Given the description of an element on the screen output the (x, y) to click on. 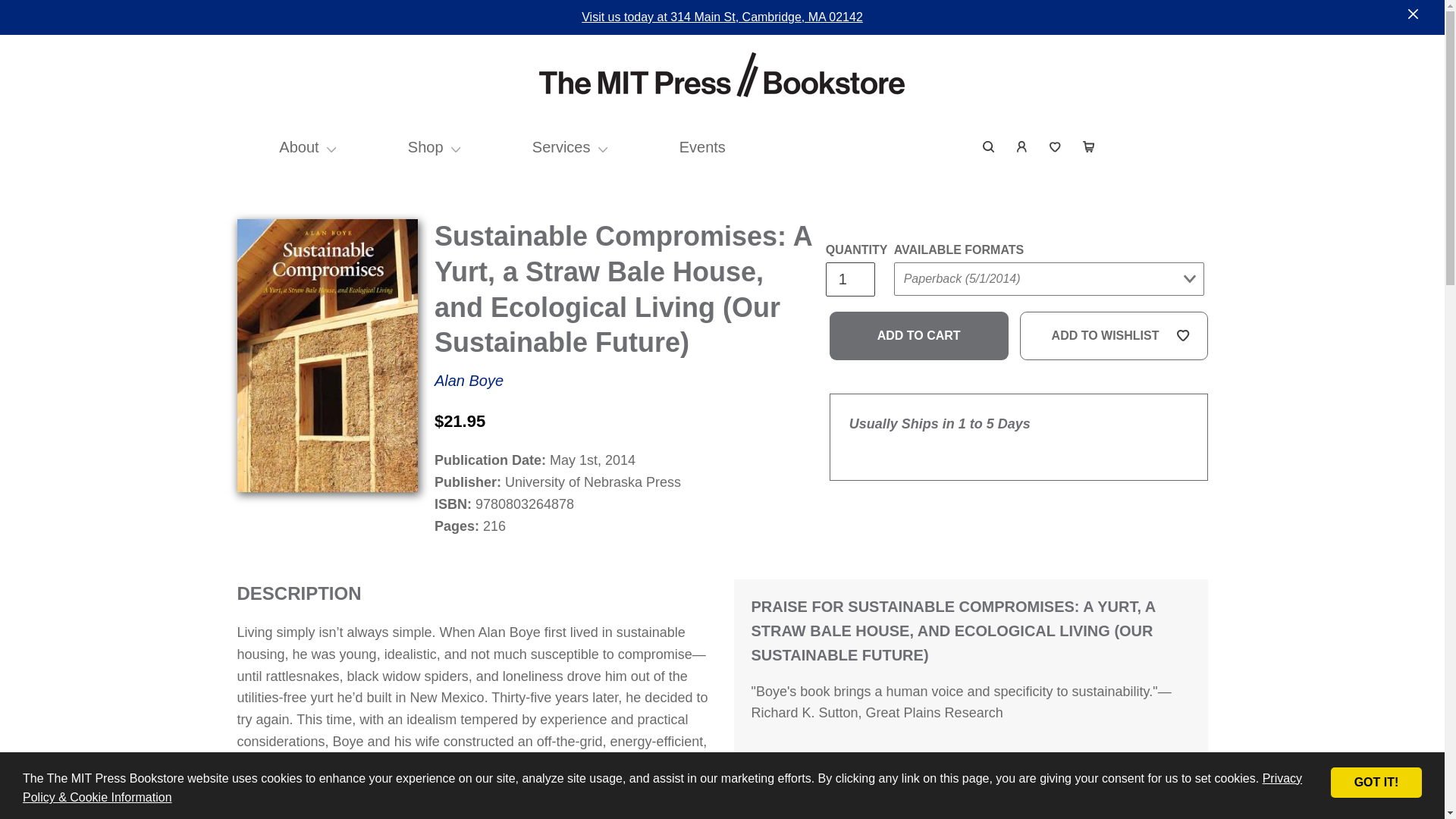
Services (561, 146)
ABOUT SUB-NAVIGATION (331, 146)
Add to cart (919, 336)
ADD TO WISHLIST (1114, 336)
Shop for books (425, 146)
Submit (1169, 135)
About the MIT Press Bookstore (298, 146)
Visit us today at 314 Main St, Cambridge, MA 02142 (721, 16)
Log in (1022, 146)
Link to mit press bookstore events listing (702, 146)
SHOP SUB-NAVIGATION (456, 146)
Events (702, 146)
Submit (922, 308)
SERVICES SUB-NAVIGATION (603, 146)
1 (850, 279)
